Given the description of an element on the screen output the (x, y) to click on. 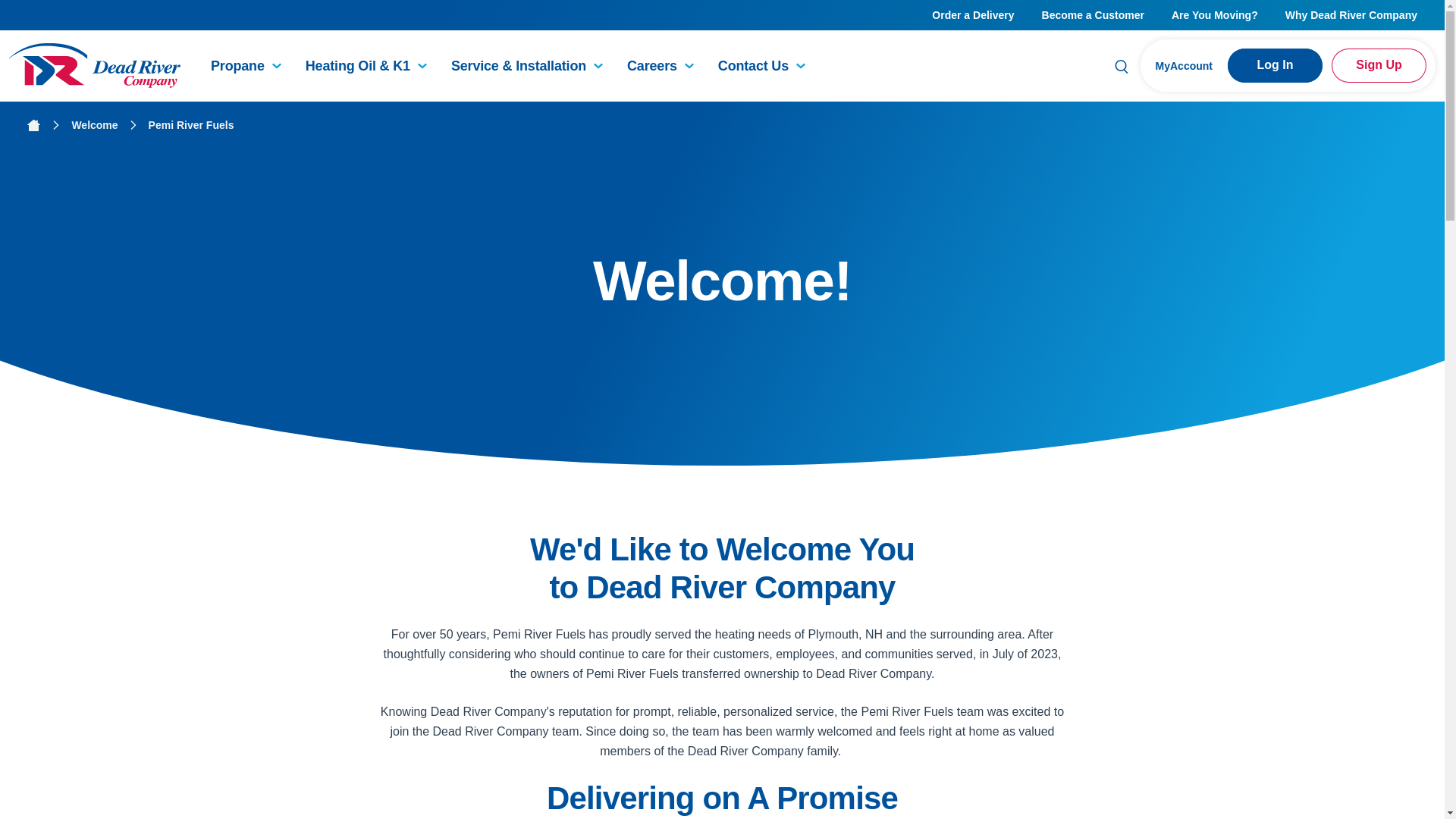
Propane (231, 65)
Careers (645, 65)
Are You Moving? (1214, 15)
Become a Customer (1092, 15)
Order a Delivery (972, 15)
Why Dead River Company (1351, 15)
